Given the description of an element on the screen output the (x, y) to click on. 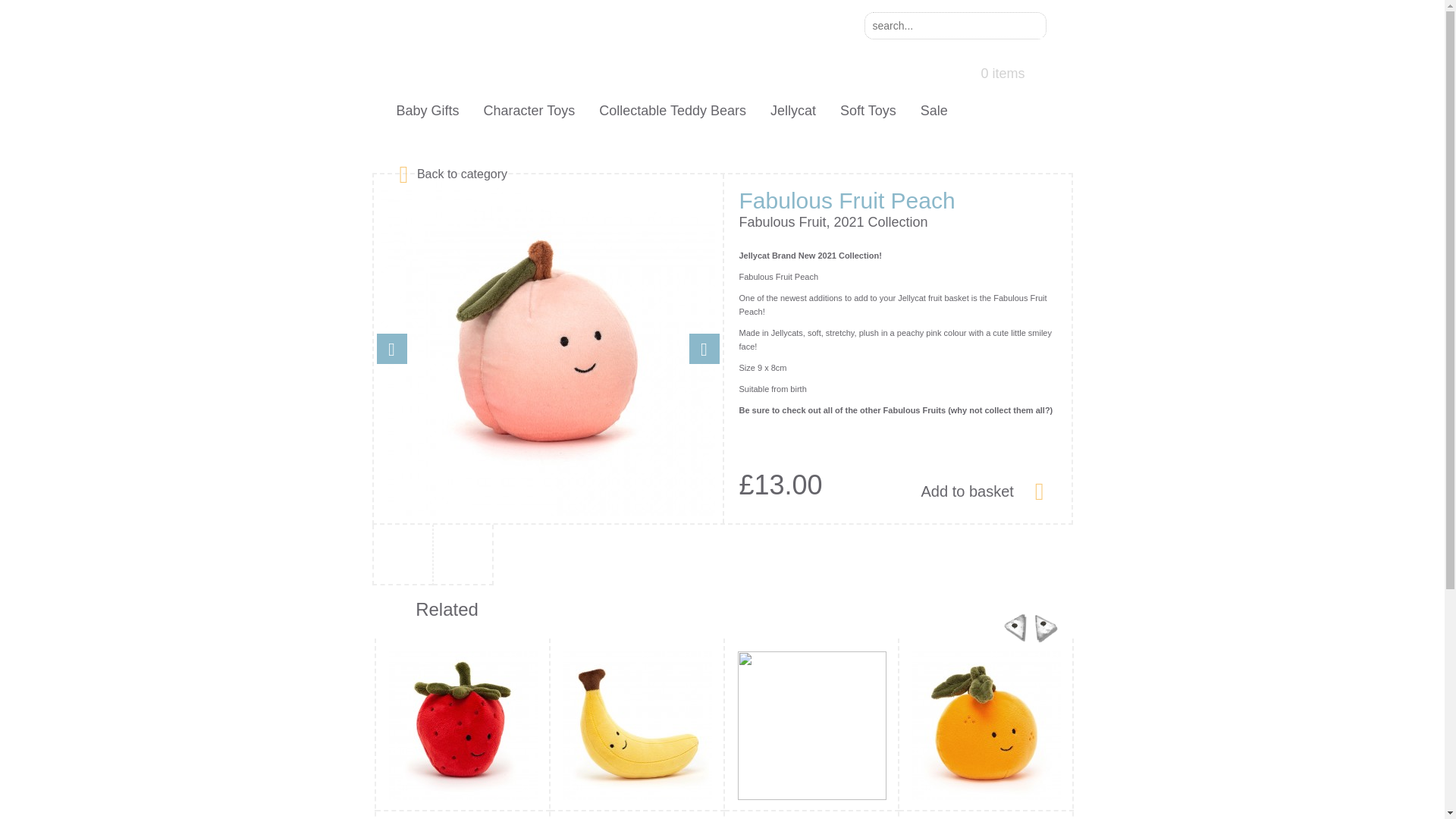
Jellycat (792, 110)
One More Bear (514, 48)
Search (1029, 26)
Character Toys (529, 110)
Sale (933, 110)
Add to basket (980, 489)
Baby Gifts (427, 110)
Soft Toys (868, 110)
Collectable Teddy Bears (671, 110)
0 items (1005, 71)
Back to category (462, 172)
